Given the description of an element on the screen output the (x, y) to click on. 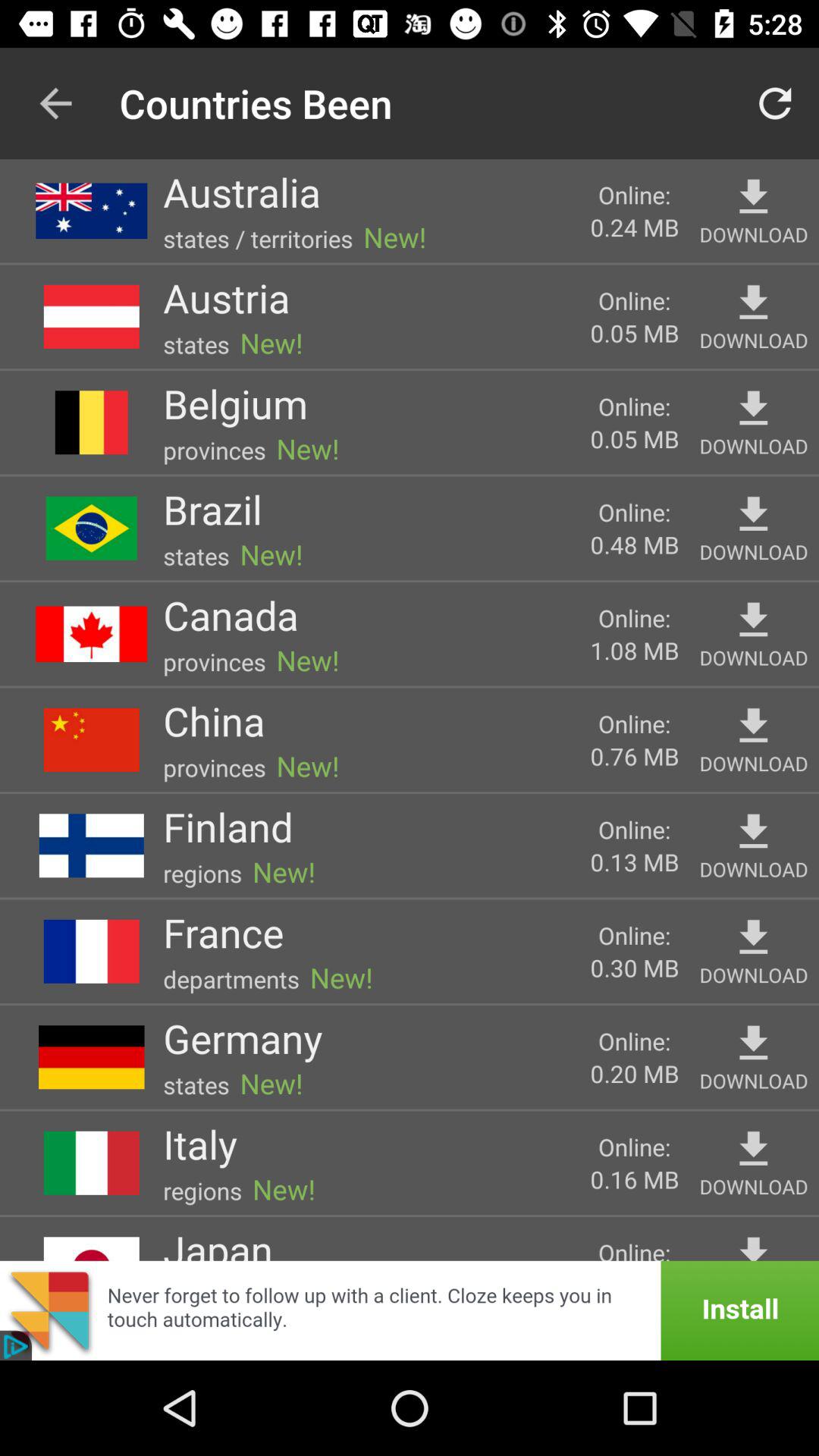
download button (753, 1043)
